Given the description of an element on the screen output the (x, y) to click on. 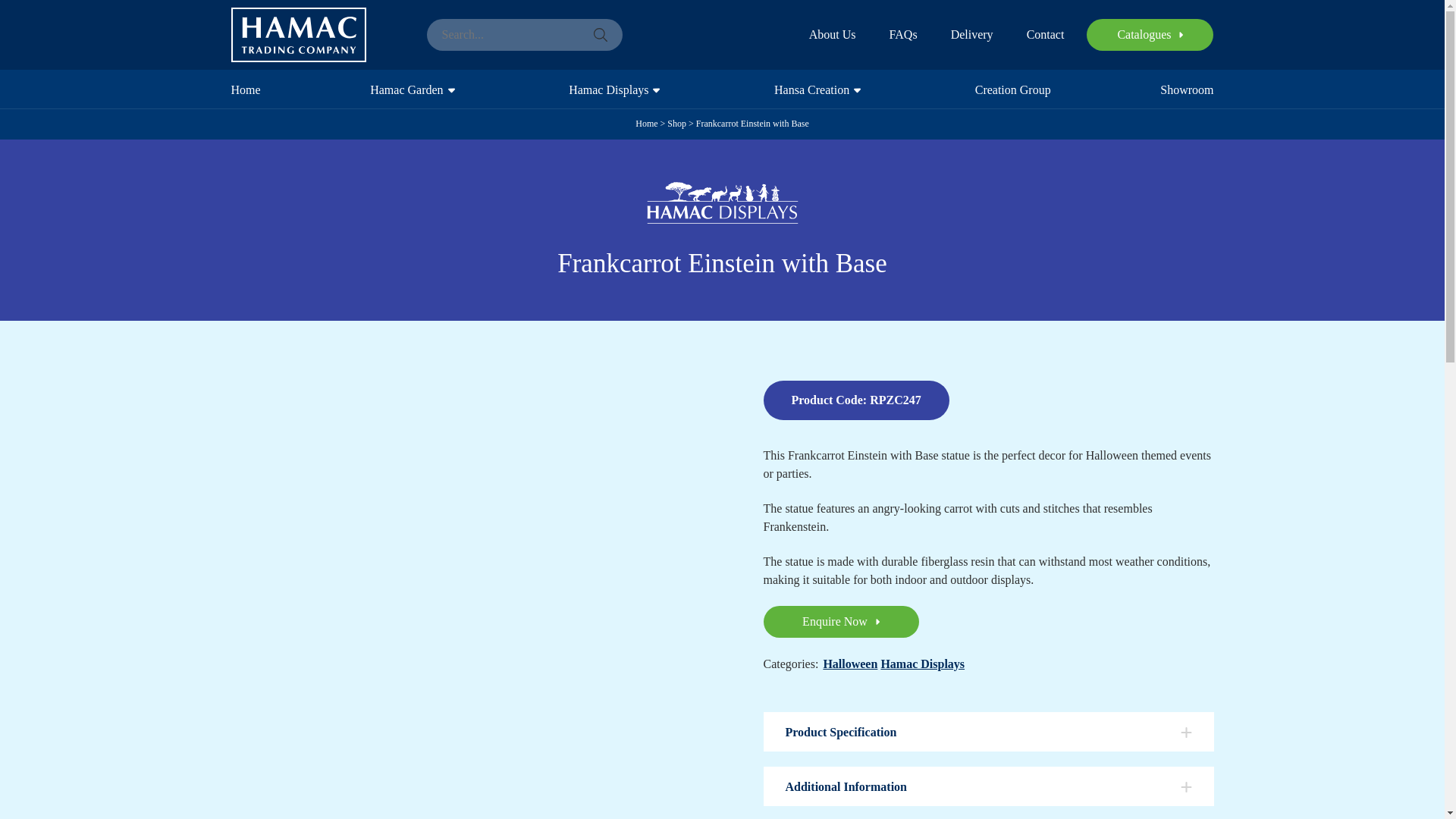
Hamac Garden (407, 88)
About Us (832, 34)
Hamac Displays (610, 88)
Delivery (971, 34)
Catalogues (1149, 34)
Contact (1045, 34)
FAQs (903, 34)
